Given the description of an element on the screen output the (x, y) to click on. 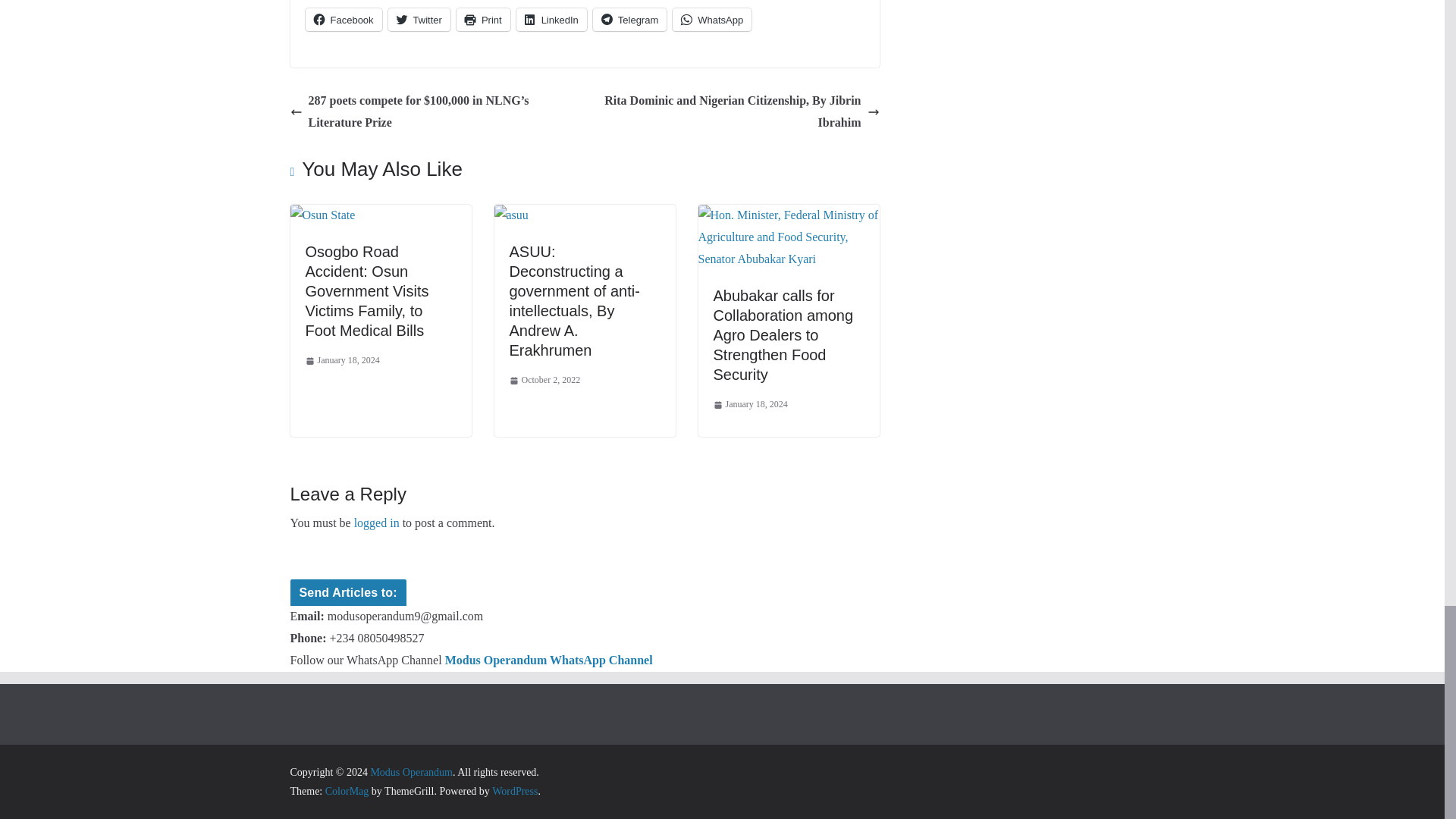
Print (484, 19)
Click to share on LinkedIn (551, 19)
Twitter (418, 19)
Click to share on Telegram (629, 19)
January 18, 2024 (341, 360)
LinkedIn (551, 19)
